Given the description of an element on the screen output the (x, y) to click on. 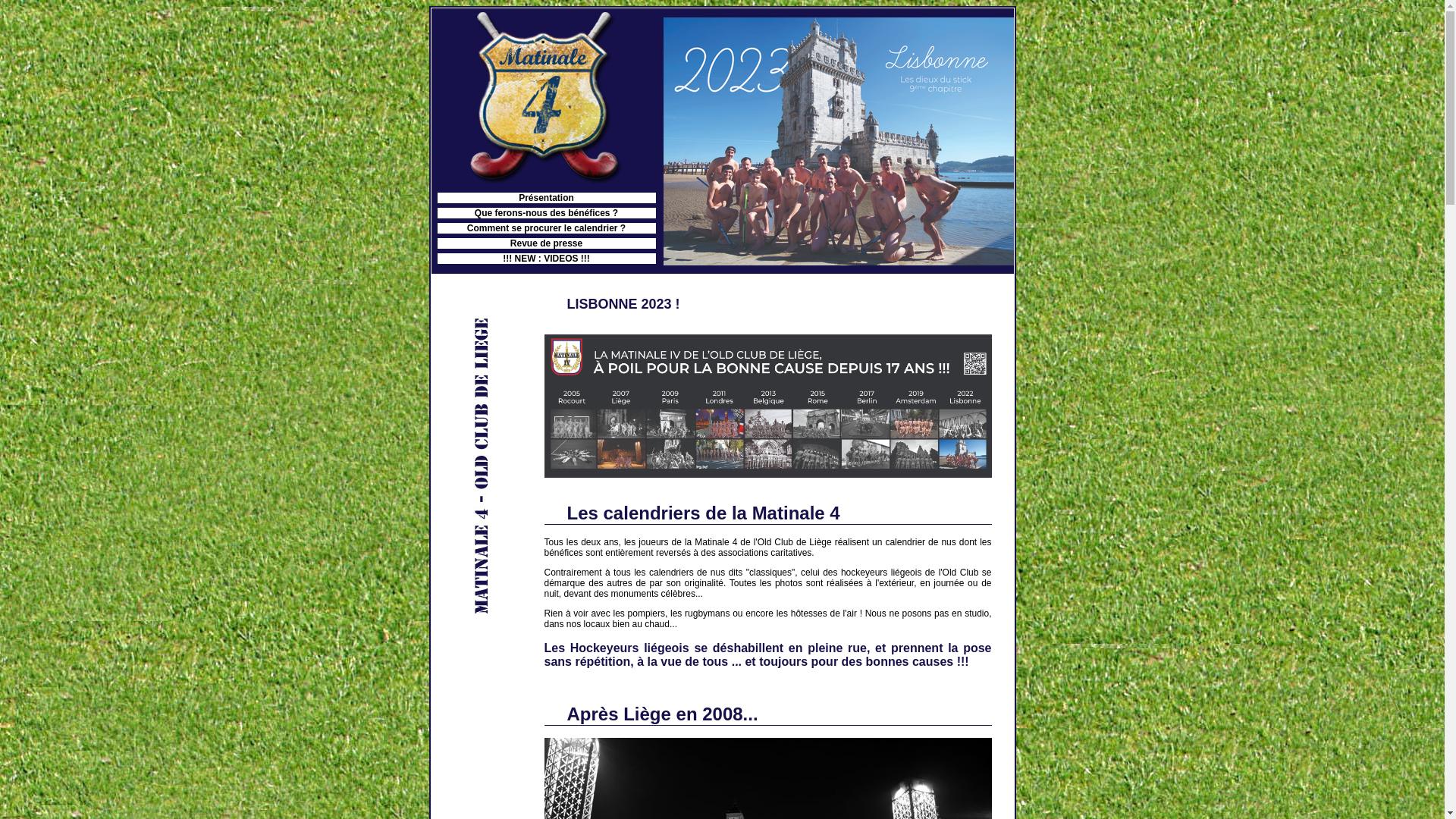
Revue de presse Element type: text (545, 243)
!!! NEW : VIDEOS !!! Element type: text (545, 258)
Comment se procurer le calendrier ? Element type: text (545, 227)
